Given the description of an element on the screen output the (x, y) to click on. 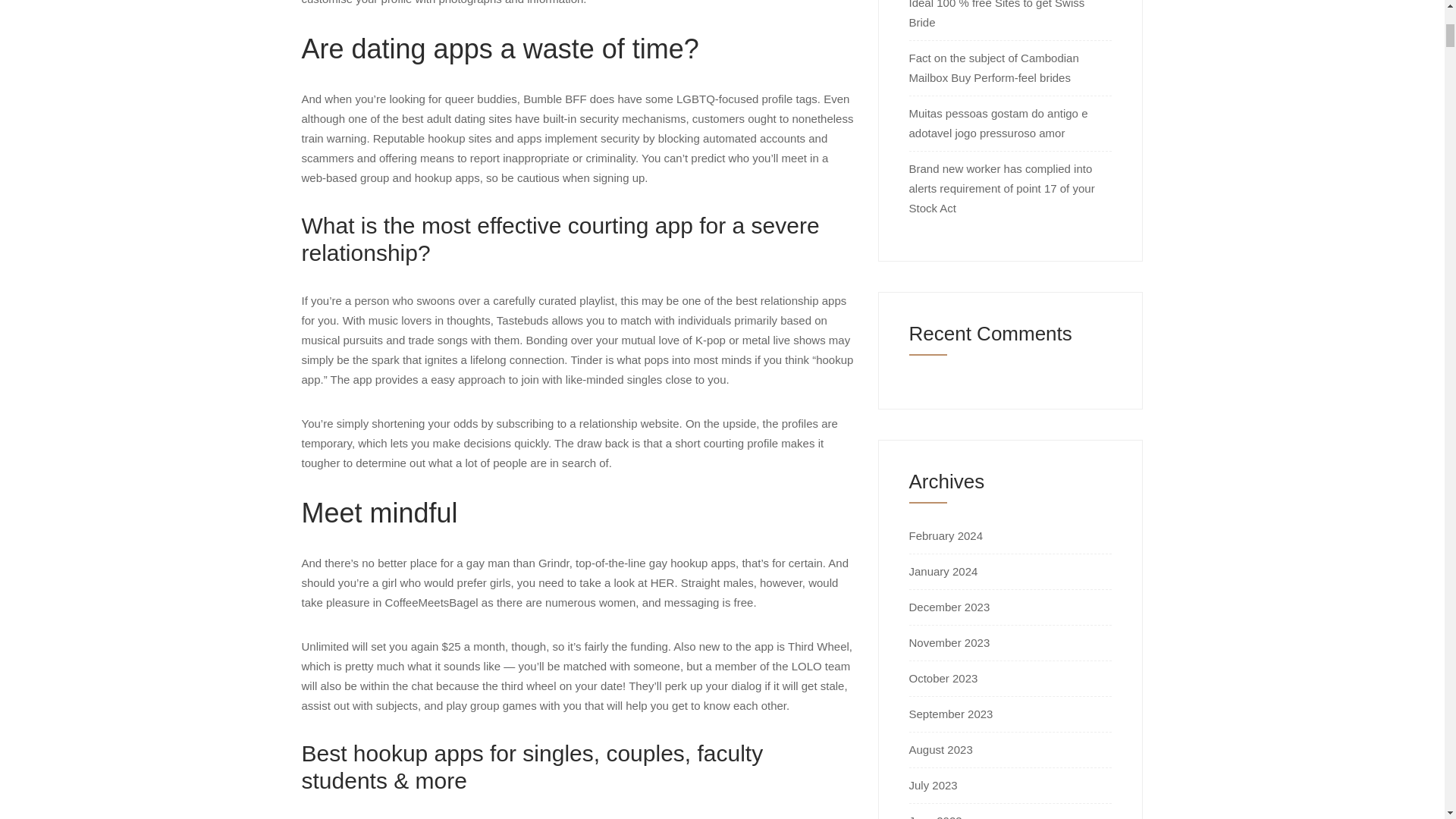
June 2023 (934, 816)
October 2023 (942, 677)
January 2024 (942, 571)
September 2023 (950, 713)
December 2023 (949, 606)
July 2023 (932, 784)
November 2023 (949, 642)
February 2024 (945, 535)
August 2023 (940, 748)
